Given the description of an element on the screen output the (x, y) to click on. 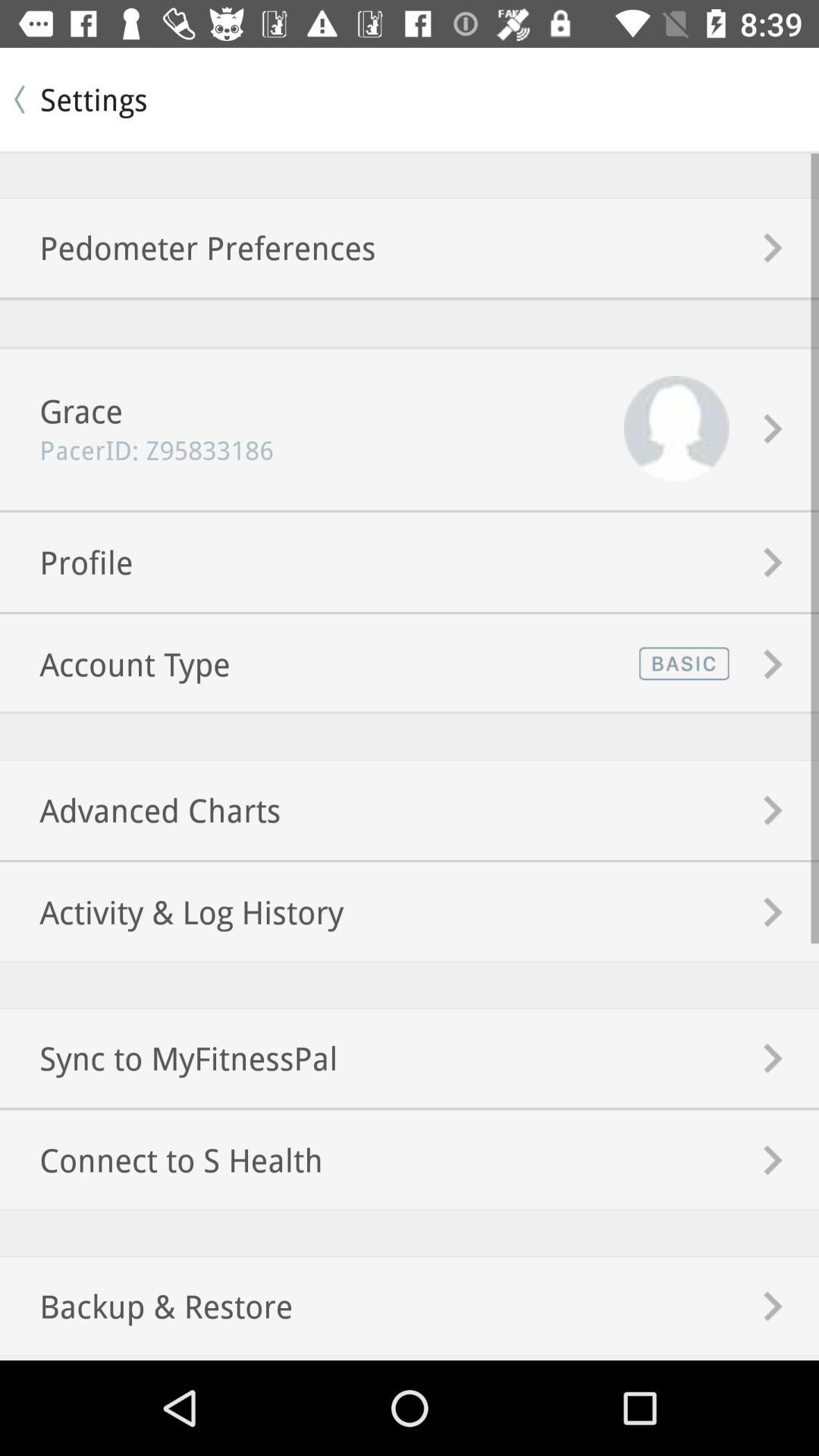
open the item below profile icon (115, 663)
